Given the description of an element on the screen output the (x, y) to click on. 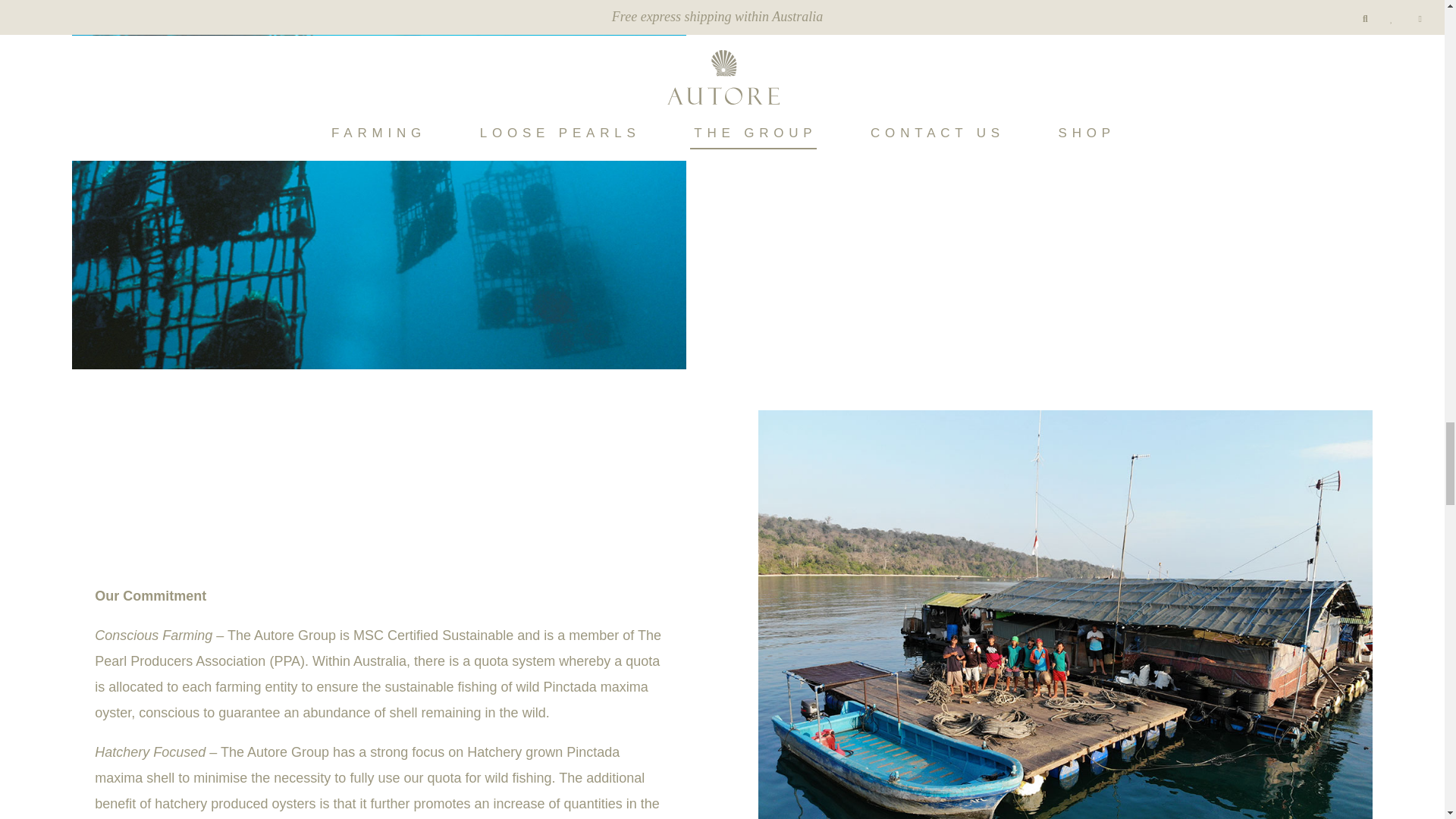
autore-mother-of-pearl-3 (378, 363)
